Given the description of an element on the screen output the (x, y) to click on. 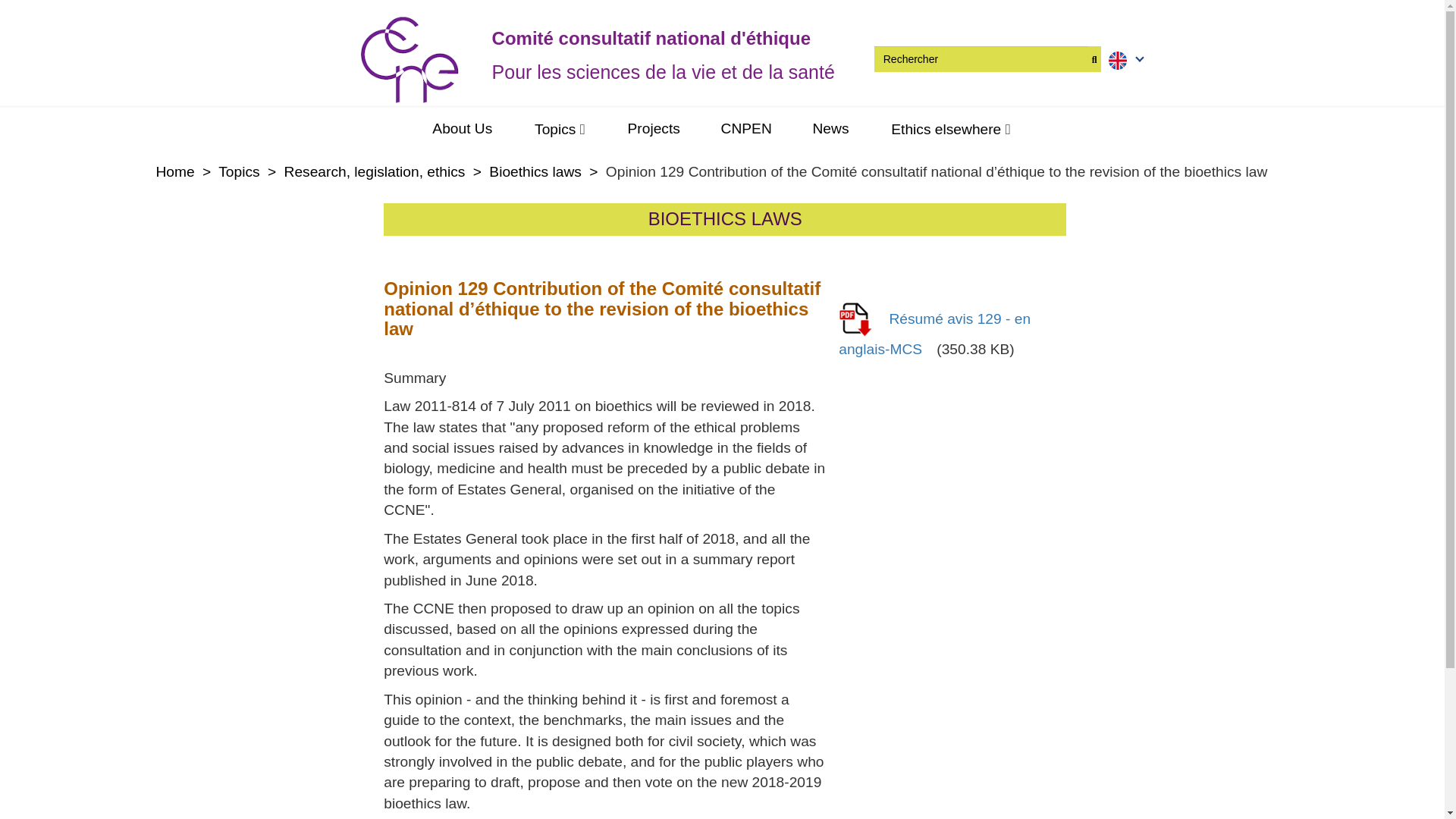
Home (175, 171)
back to home page (566, 59)
